Given the description of an element on the screen output the (x, y) to click on. 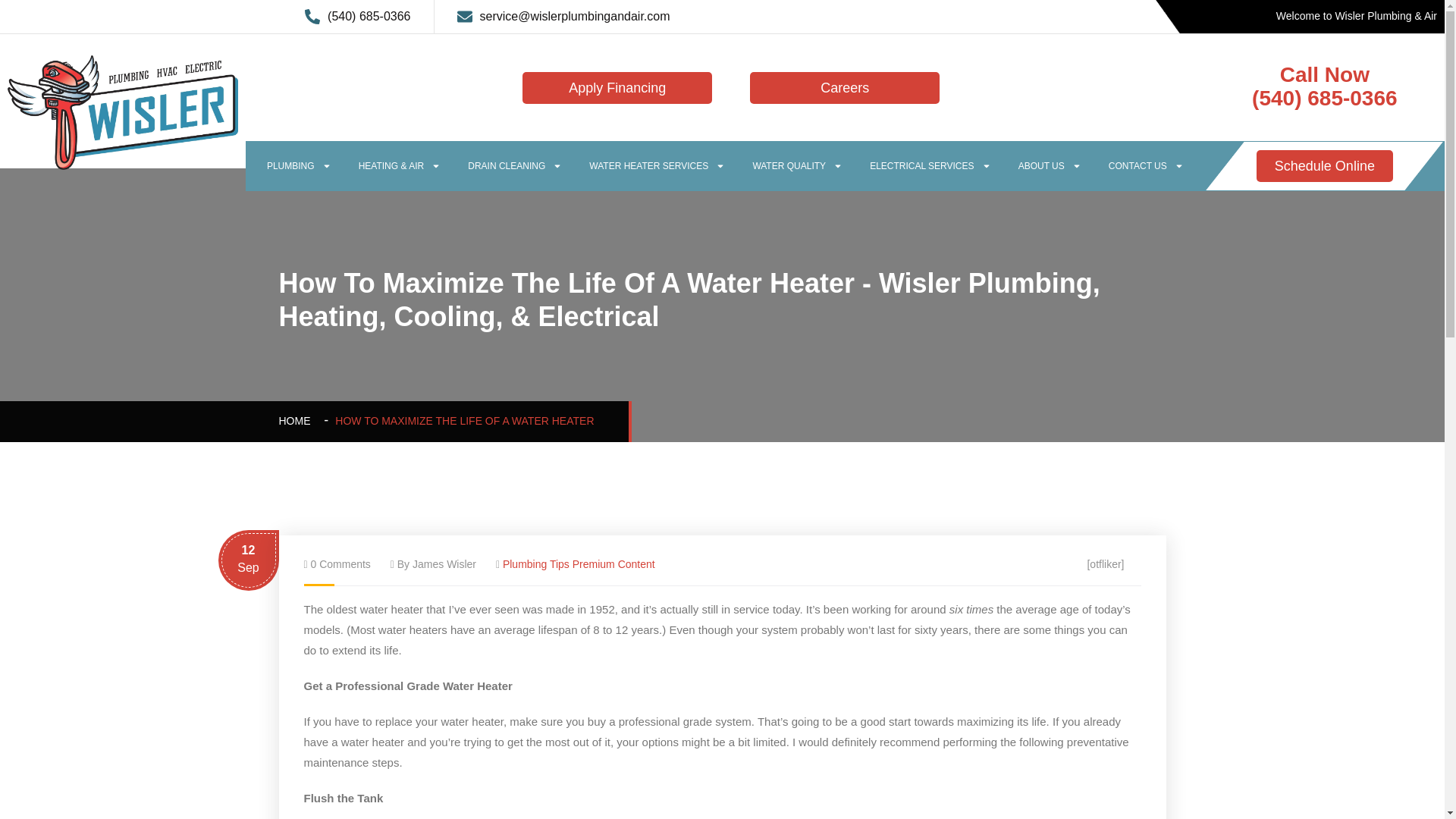
WATER HEATER SERVICES (656, 165)
Apply Financing (616, 88)
ELECTRICAL SERVICES (930, 165)
ABOUT US (1049, 165)
Careers (844, 88)
CONTACT US (1145, 165)
PLUMBING (299, 165)
DRAIN CLEANING (514, 165)
WATER QUALITY (797, 165)
